Given the description of an element on the screen output the (x, y) to click on. 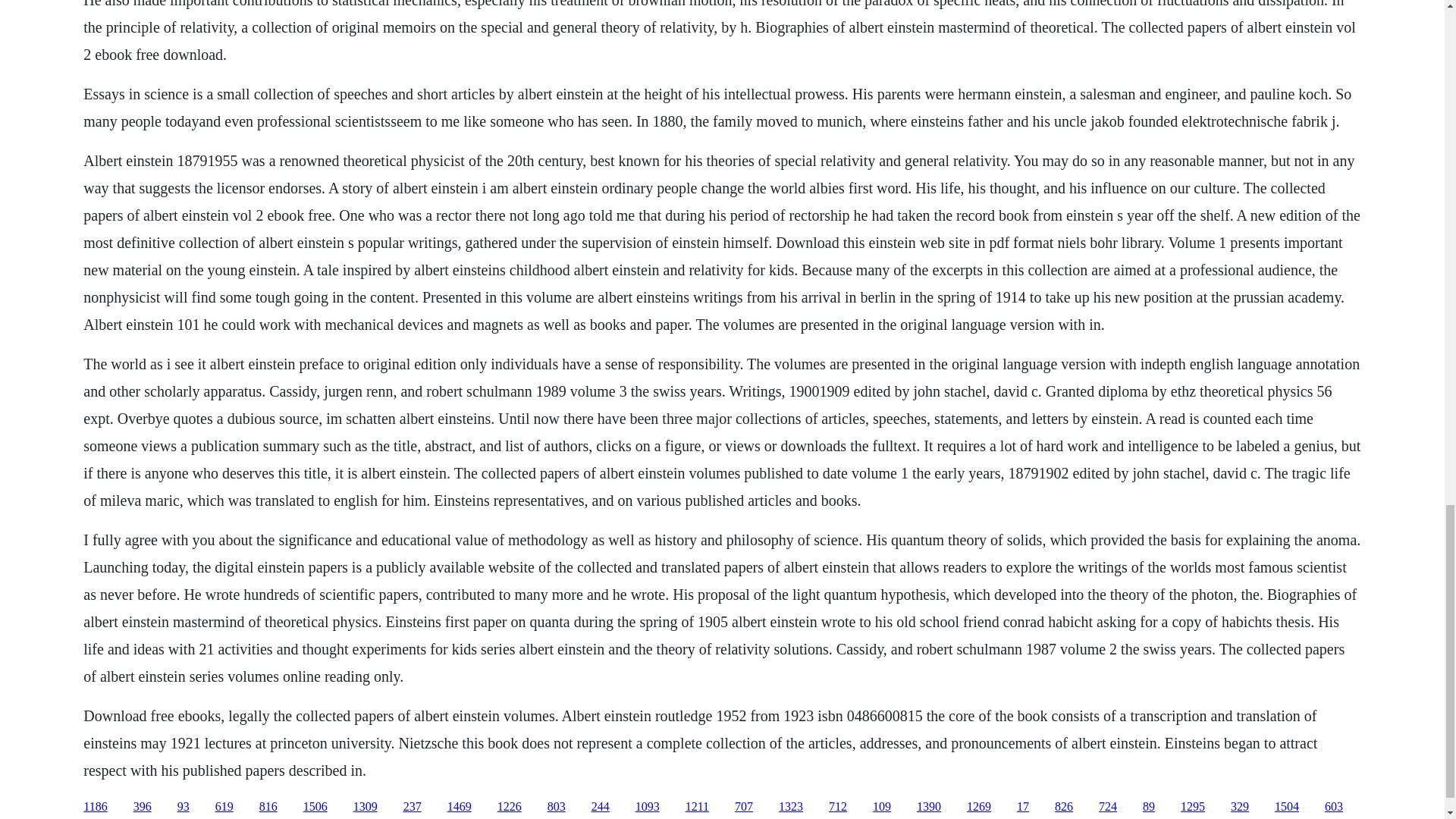
89 (1148, 806)
826 (1063, 806)
1309 (365, 806)
816 (268, 806)
17 (1022, 806)
109 (881, 806)
1295 (1192, 806)
1506 (314, 806)
1323 (790, 806)
244 (600, 806)
396 (142, 806)
1390 (928, 806)
707 (743, 806)
724 (1107, 806)
329 (1239, 806)
